Given the description of an element on the screen output the (x, y) to click on. 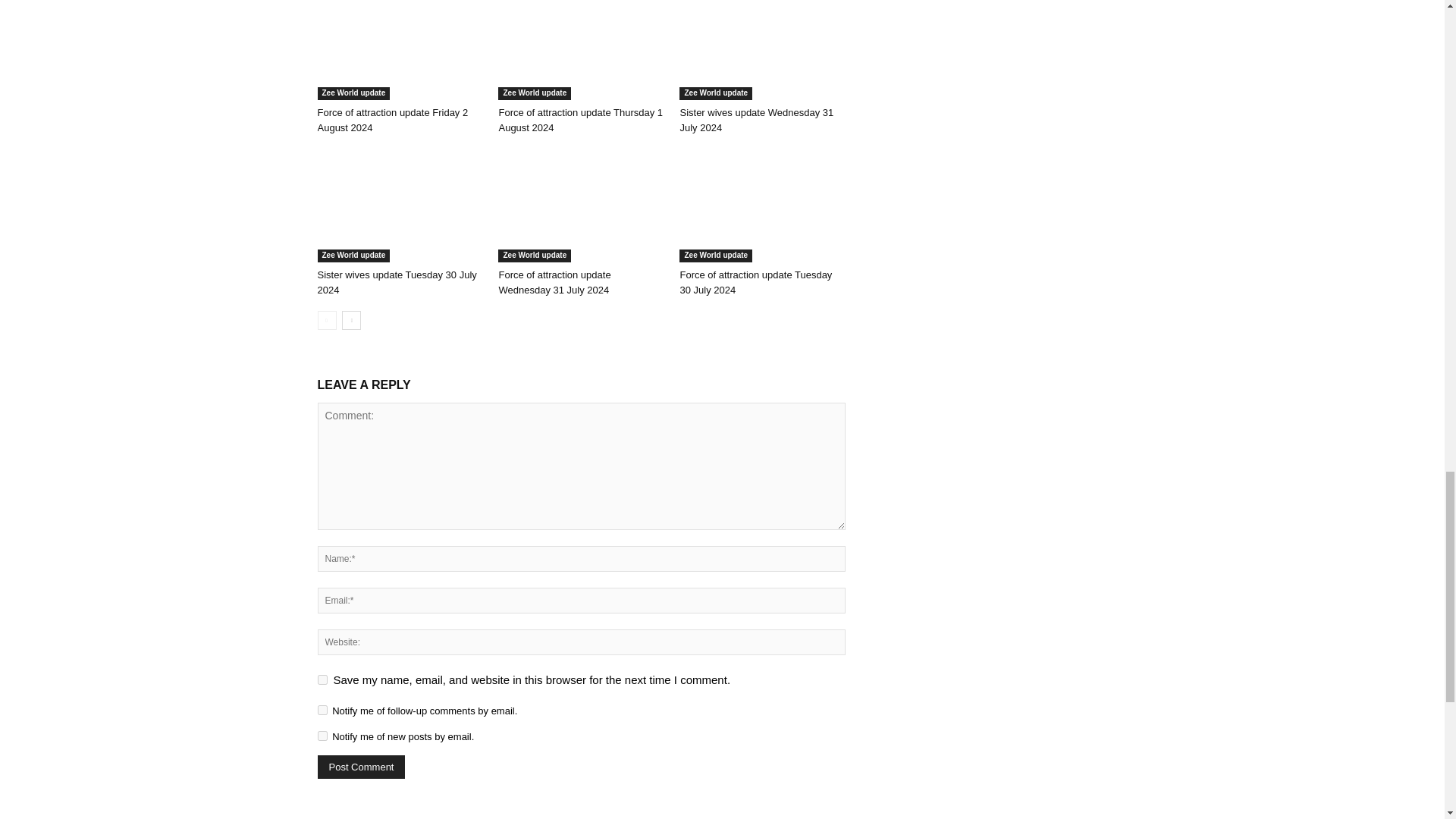
Post Comment (360, 766)
subscribe (321, 736)
yes (321, 679)
Force of attraction update Friday 2 August 2024 (392, 120)
Force of attraction update Thursday 1 August 2024 (580, 49)
subscribe (321, 709)
Force of attraction update Friday 2 August 2024 (399, 49)
